Given the description of an element on the screen output the (x, y) to click on. 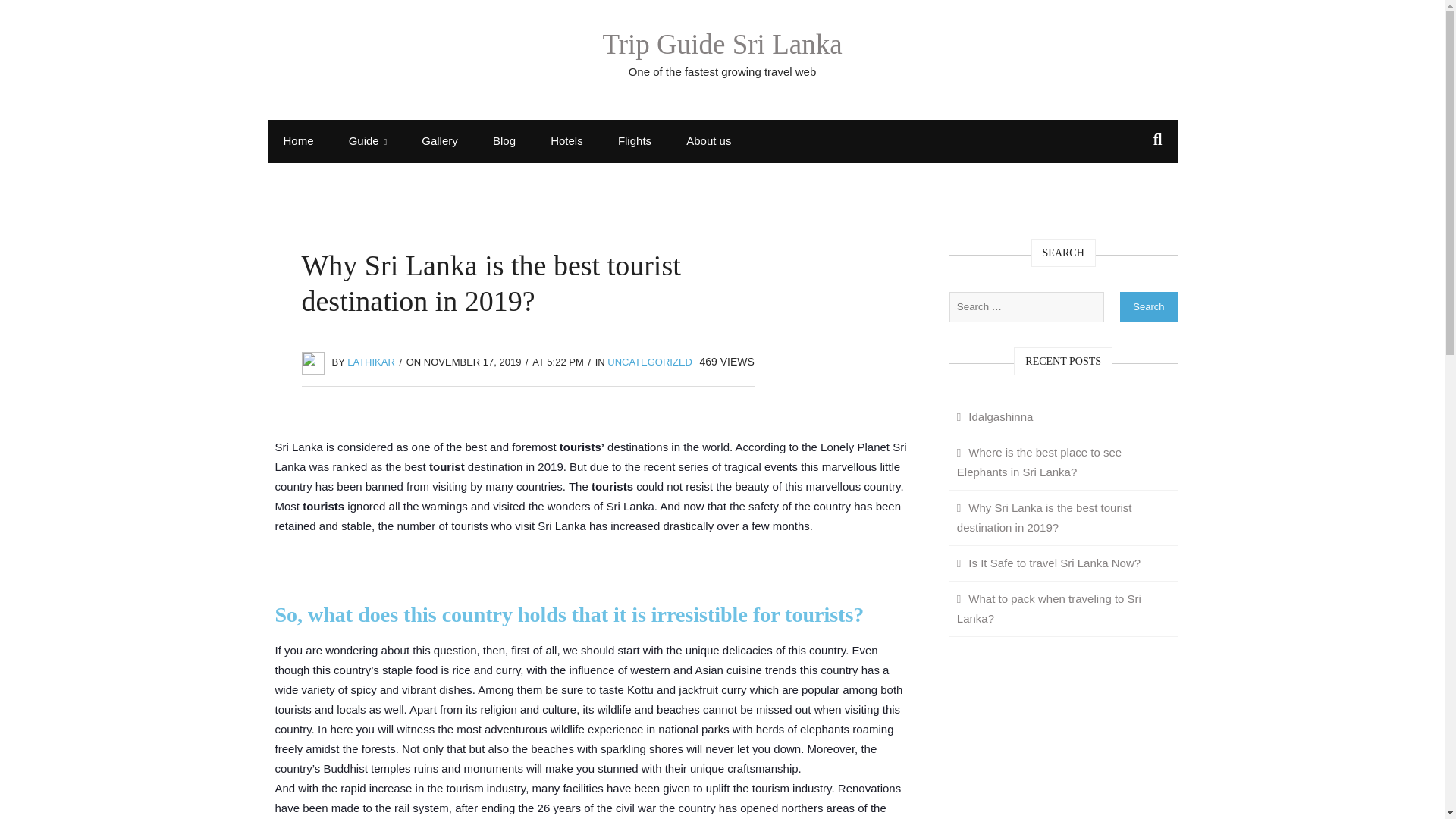
Trip Guide Sri Lanka (721, 43)
Posts by lathikar (370, 361)
Search (1147, 306)
Guide (368, 140)
Search (1147, 306)
Search (28, 15)
Home (297, 140)
Trip Guide Sri Lanka (721, 43)
